Given the description of an element on the screen output the (x, y) to click on. 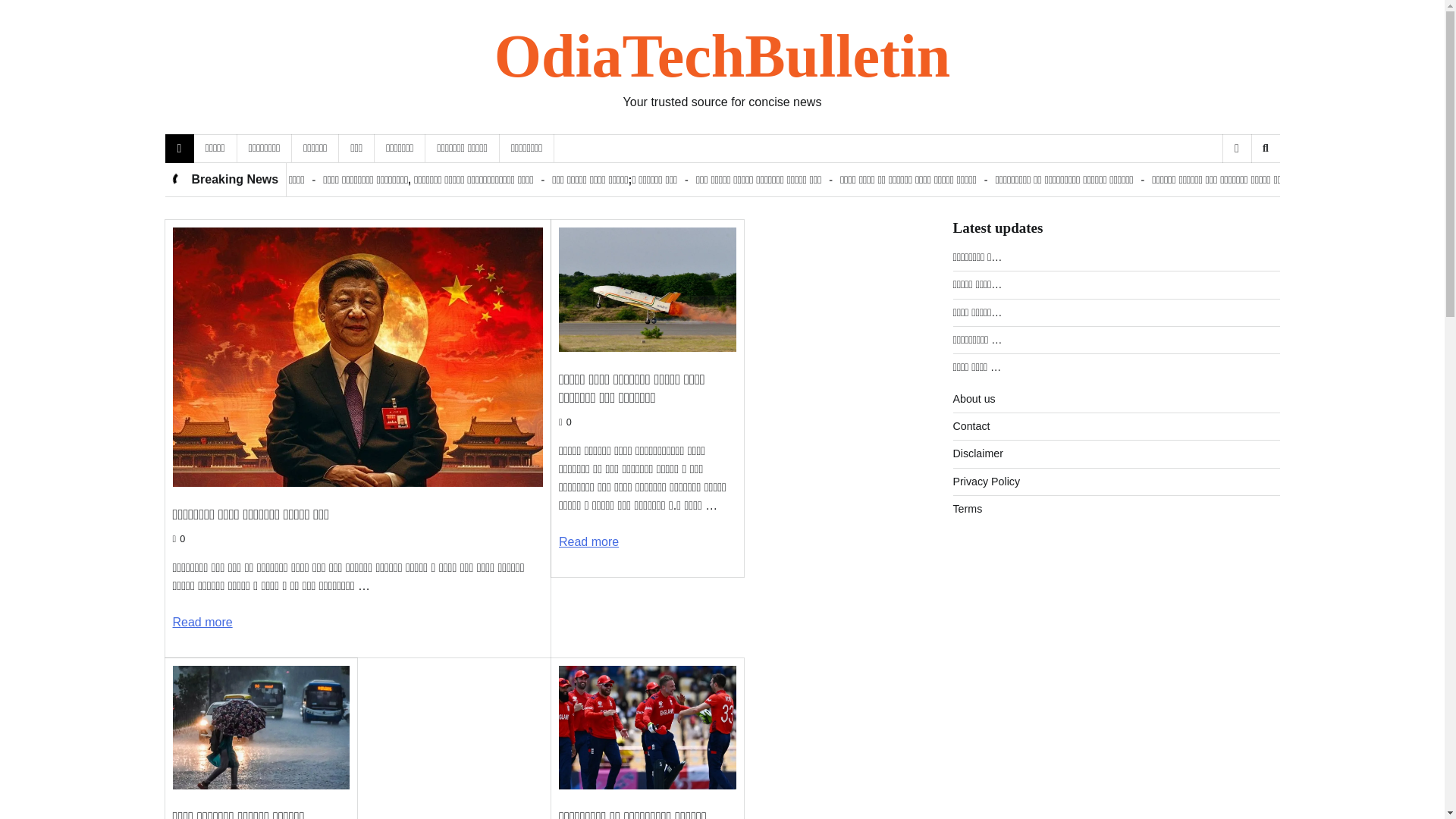
OdiaTechBulletin (722, 55)
Read more (202, 621)
Search (1264, 148)
Search (1240, 187)
View Random Post (1236, 148)
Read more (588, 541)
